Given the description of an element on the screen output the (x, y) to click on. 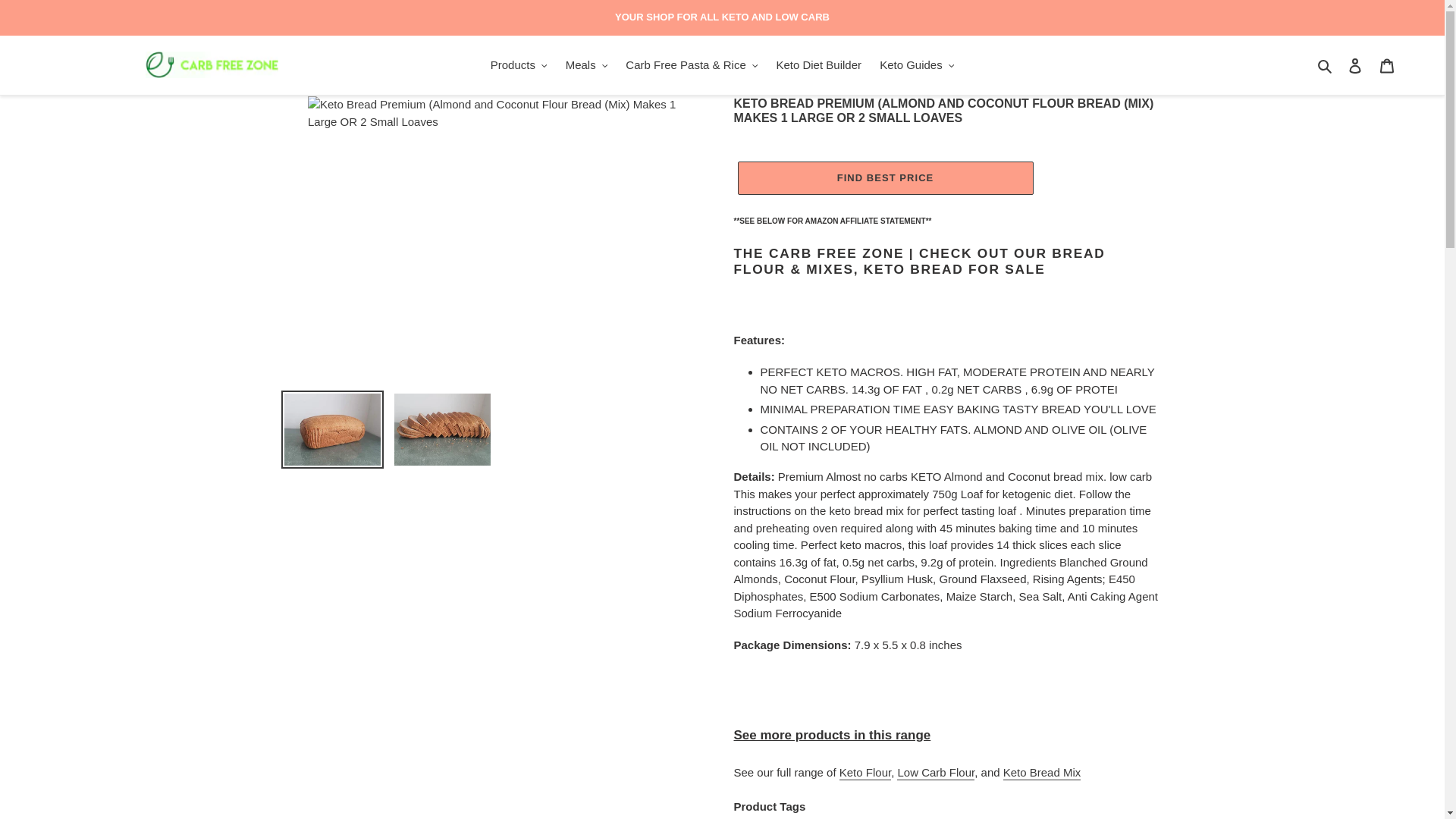
Keto Diet Builder (818, 65)
Meals (586, 65)
Keto Guides (916, 65)
Products (518, 65)
